Given the description of an element on the screen output the (x, y) to click on. 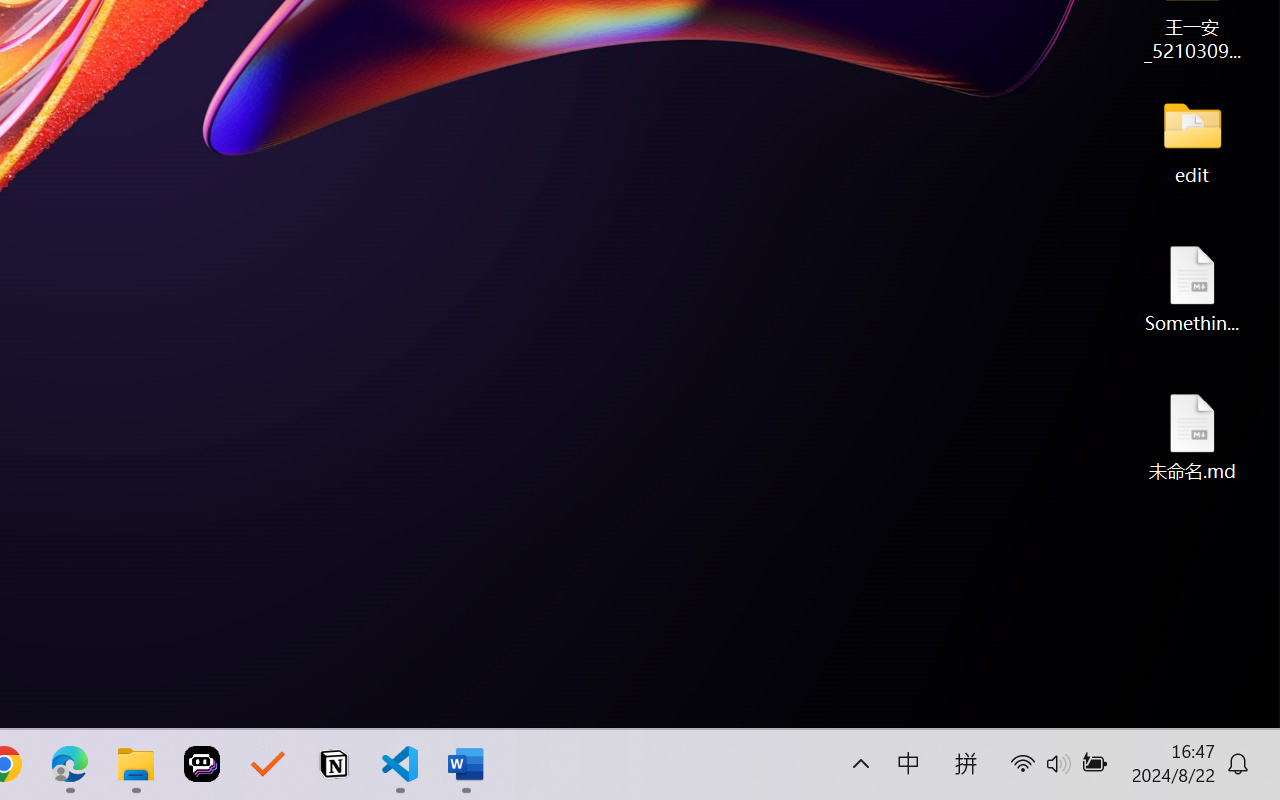
Something.md (1192, 288)
